Given the description of an element on the screen output the (x, y) to click on. 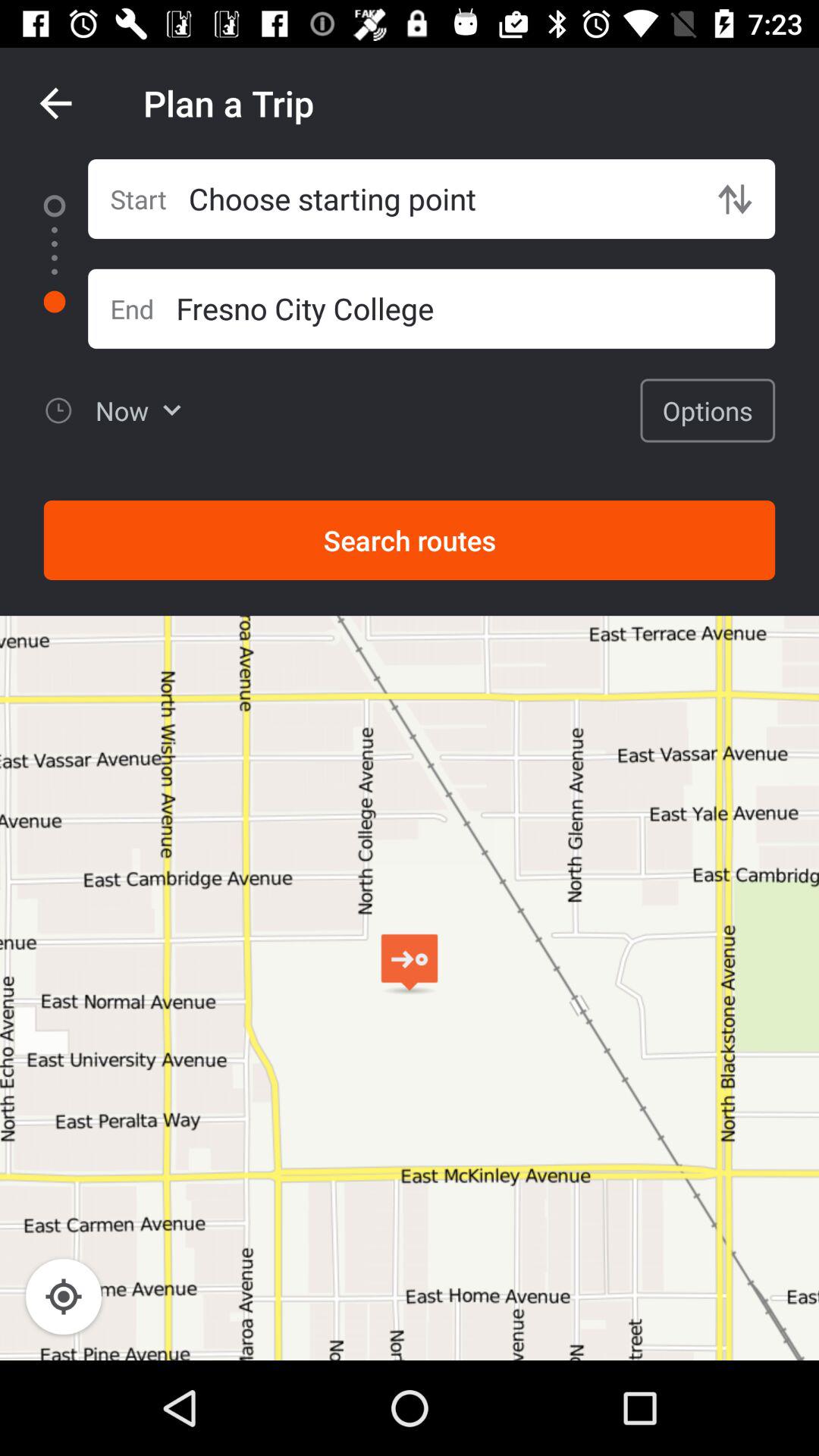
open compass (63, 1296)
